Given the description of an element on the screen output the (x, y) to click on. 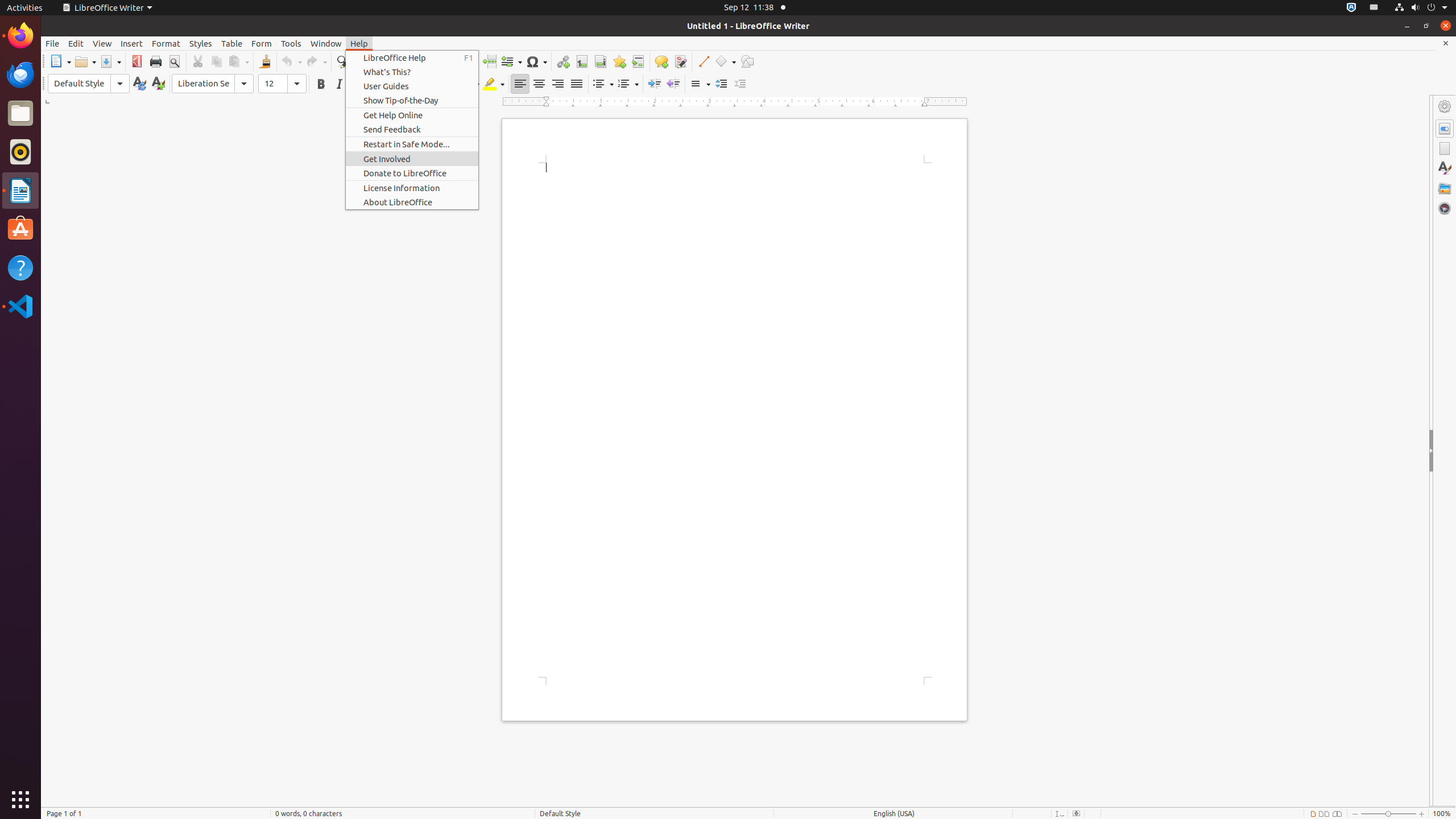
Help Element type: menu (358, 43)
Save Element type: push-button (109, 61)
Comment Element type: push-button (660, 61)
Basic Shapes Element type: push-button (724, 61)
Get Involved Element type: menu-item (411, 158)
